Given the description of an element on the screen output the (x, y) to click on. 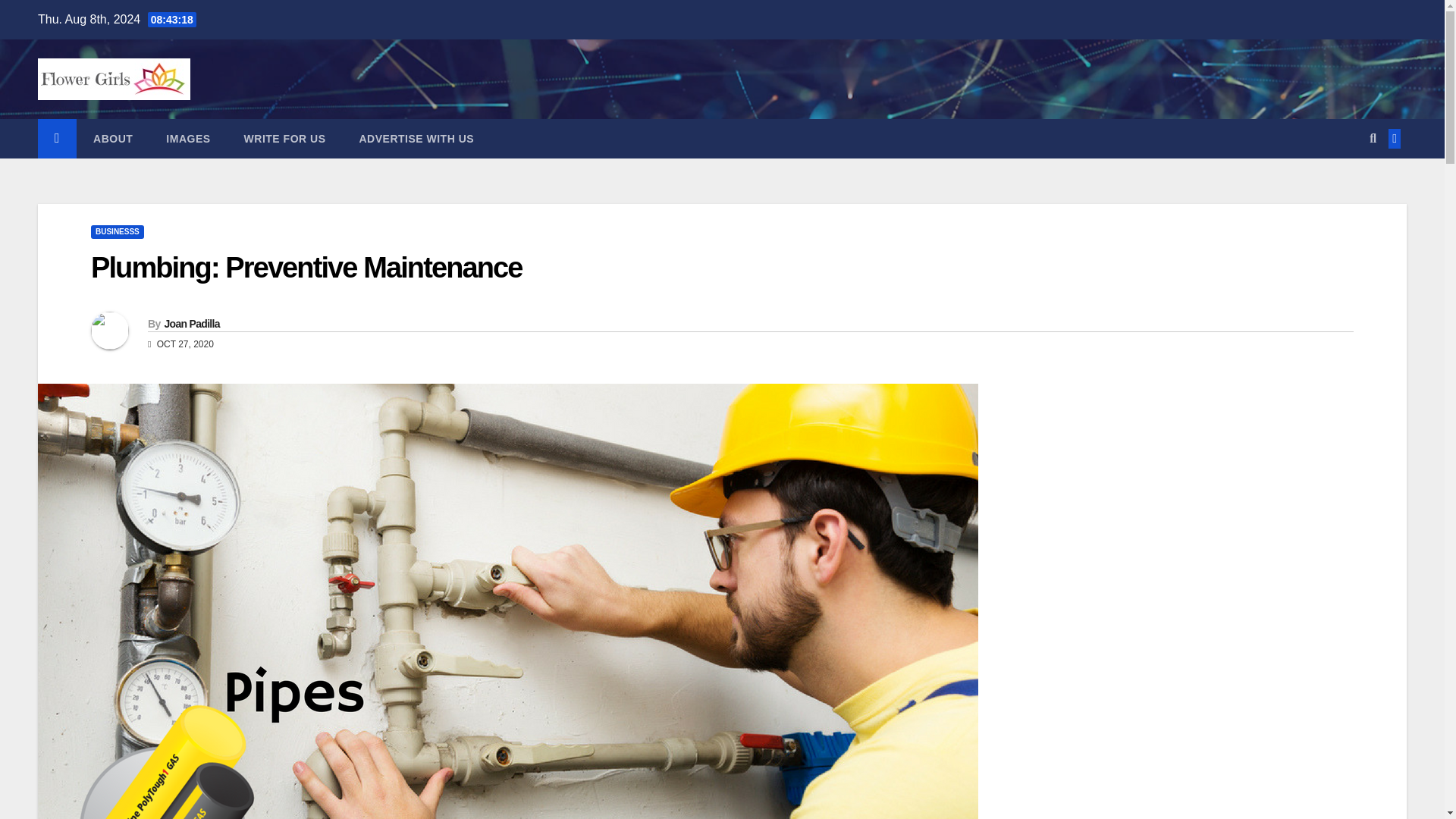
Images (188, 138)
About (113, 138)
BUSINESSS (117, 232)
Write For Us (284, 138)
Permalink to: Plumbing: Preventive Maintenance (305, 267)
ADVERTISE WITH US (416, 138)
WRITE FOR US (284, 138)
Advertise with Us (416, 138)
ABOUT (113, 138)
Joan Padilla (191, 323)
Plumbing: Preventive Maintenance (305, 267)
IMAGES (188, 138)
